Given the description of an element on the screen output the (x, y) to click on. 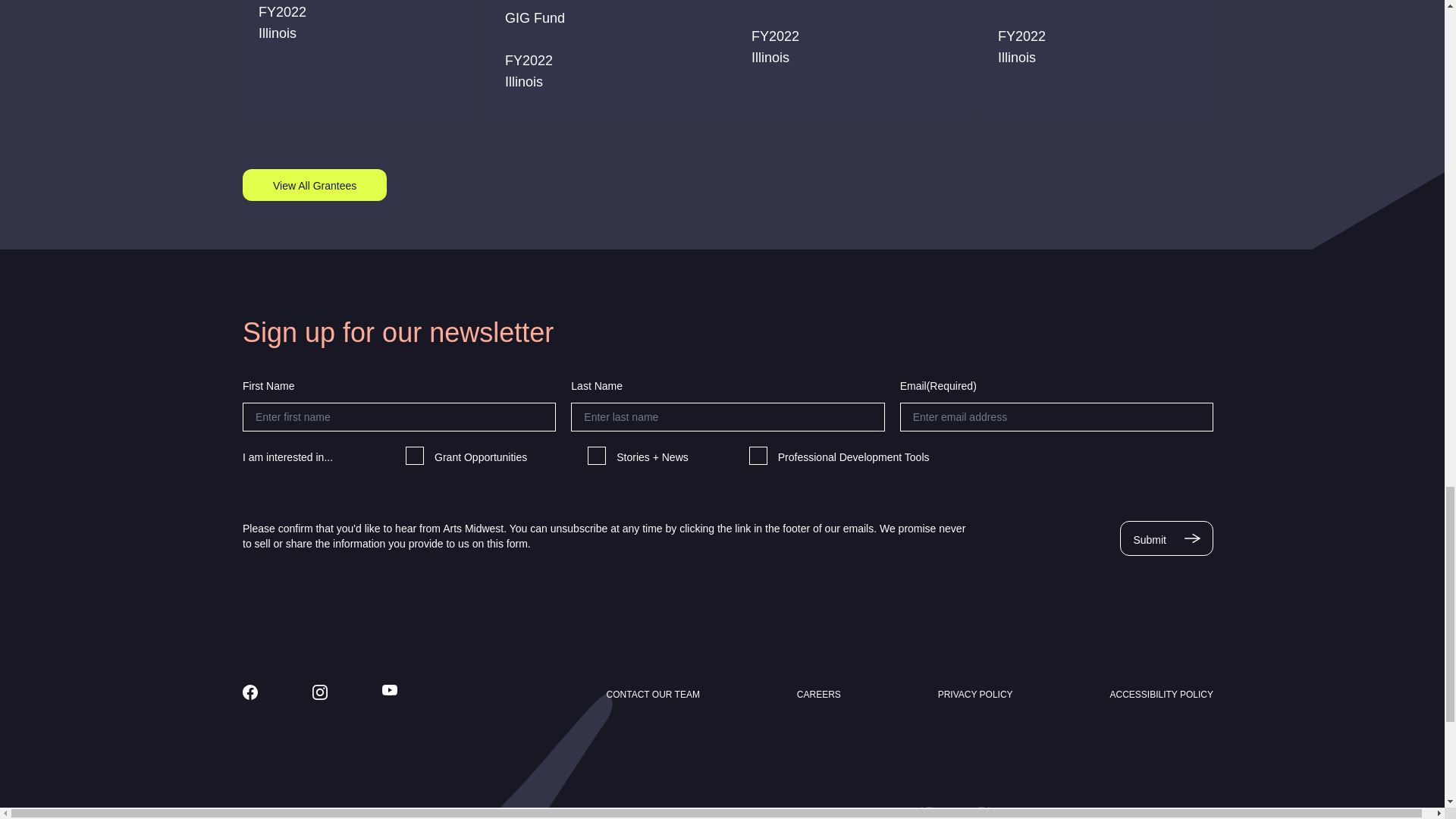
Grant Opportunities (414, 455)
Accessibility Policy (1160, 694)
Arts Midwest on Charity Navigator (954, 812)
Follow us on Facebook (250, 692)
Follow us on Instagram (320, 692)
Professional Development Tools (758, 455)
Privacy Policy (975, 694)
Careers (818, 694)
Follow us on Youtube (389, 689)
National Endowment for the Arts (1114, 812)
Contact Our Team (653, 694)
